Given the description of an element on the screen output the (x, y) to click on. 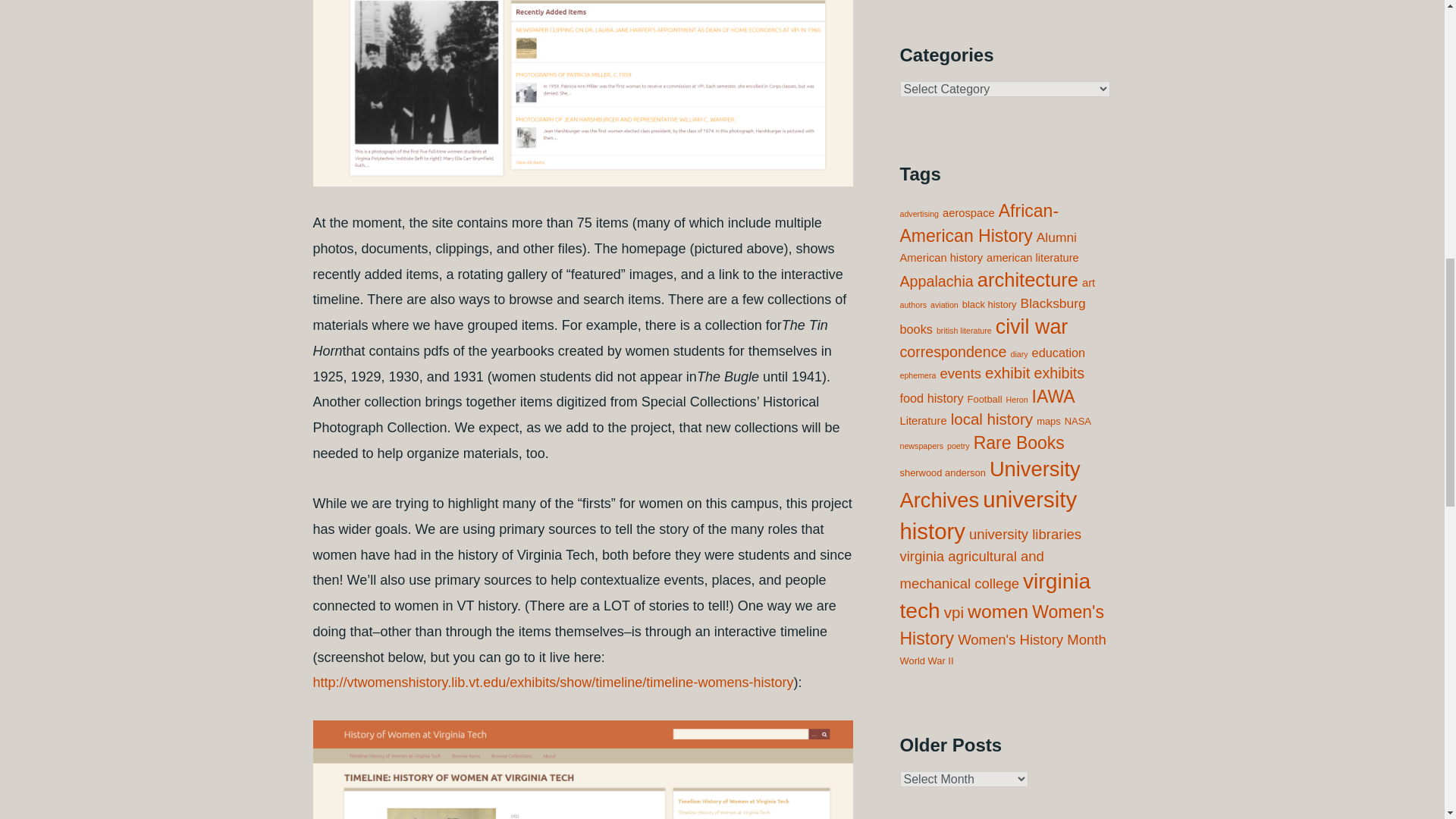
Alumni (1056, 237)
advertising (919, 213)
aerospace (968, 213)
African-American History (978, 222)
